Given the description of an element on the screen output the (x, y) to click on. 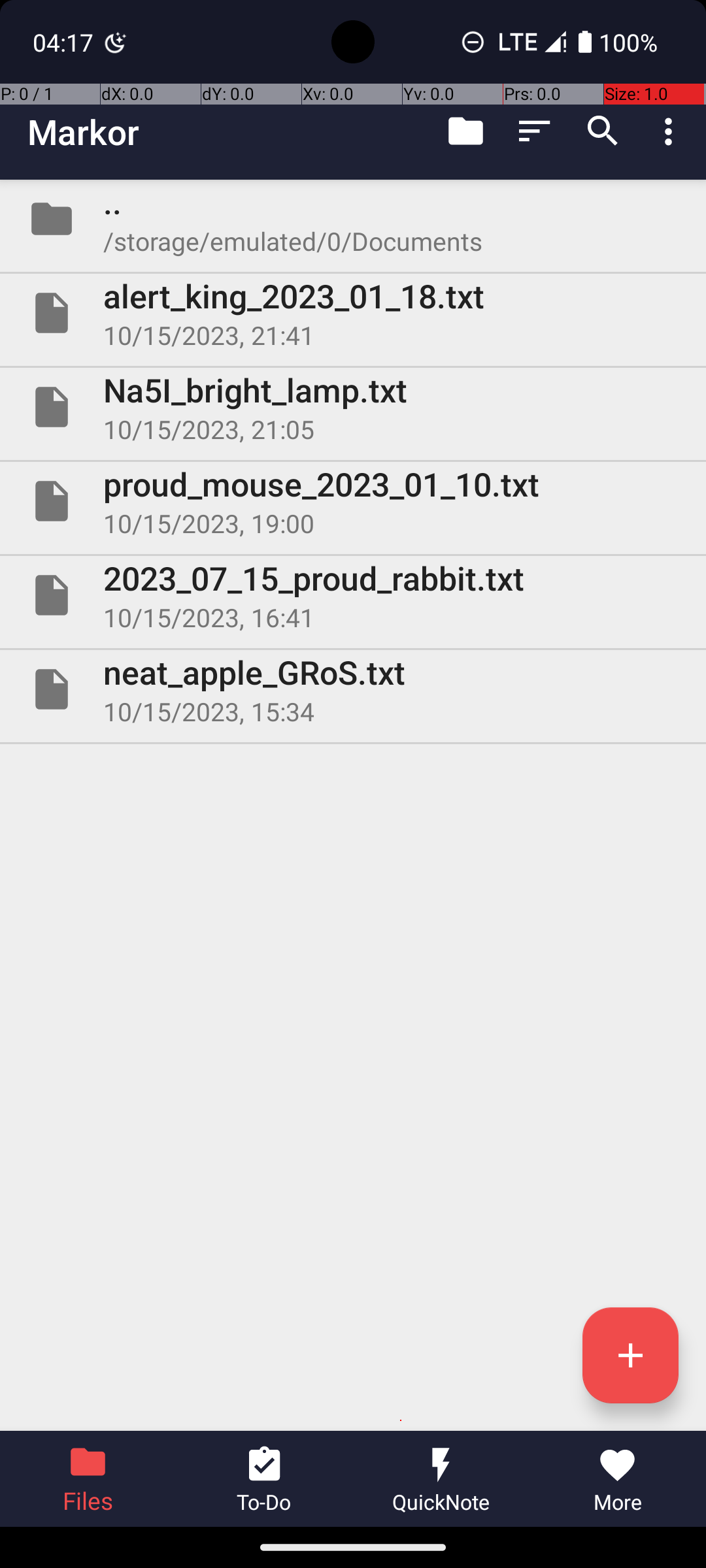
File alert_king_2023_01_18.txt  Element type: android.widget.LinearLayout (353, 312)
File Na5I_bright_lamp.txt  Element type: android.widget.LinearLayout (353, 406)
File proud_mouse_2023_01_10.txt  Element type: android.widget.LinearLayout (353, 500)
File 2023_07_15_proud_rabbit.txt  Element type: android.widget.LinearLayout (353, 594)
File neat_apple_GRoS.txt  Element type: android.widget.LinearLayout (353, 689)
04:17 Element type: android.widget.TextView (64, 41)
Digital Wellbeing notification: Bedtime mode is on Element type: android.widget.ImageView (115, 41)
